Given the description of an element on the screen output the (x, y) to click on. 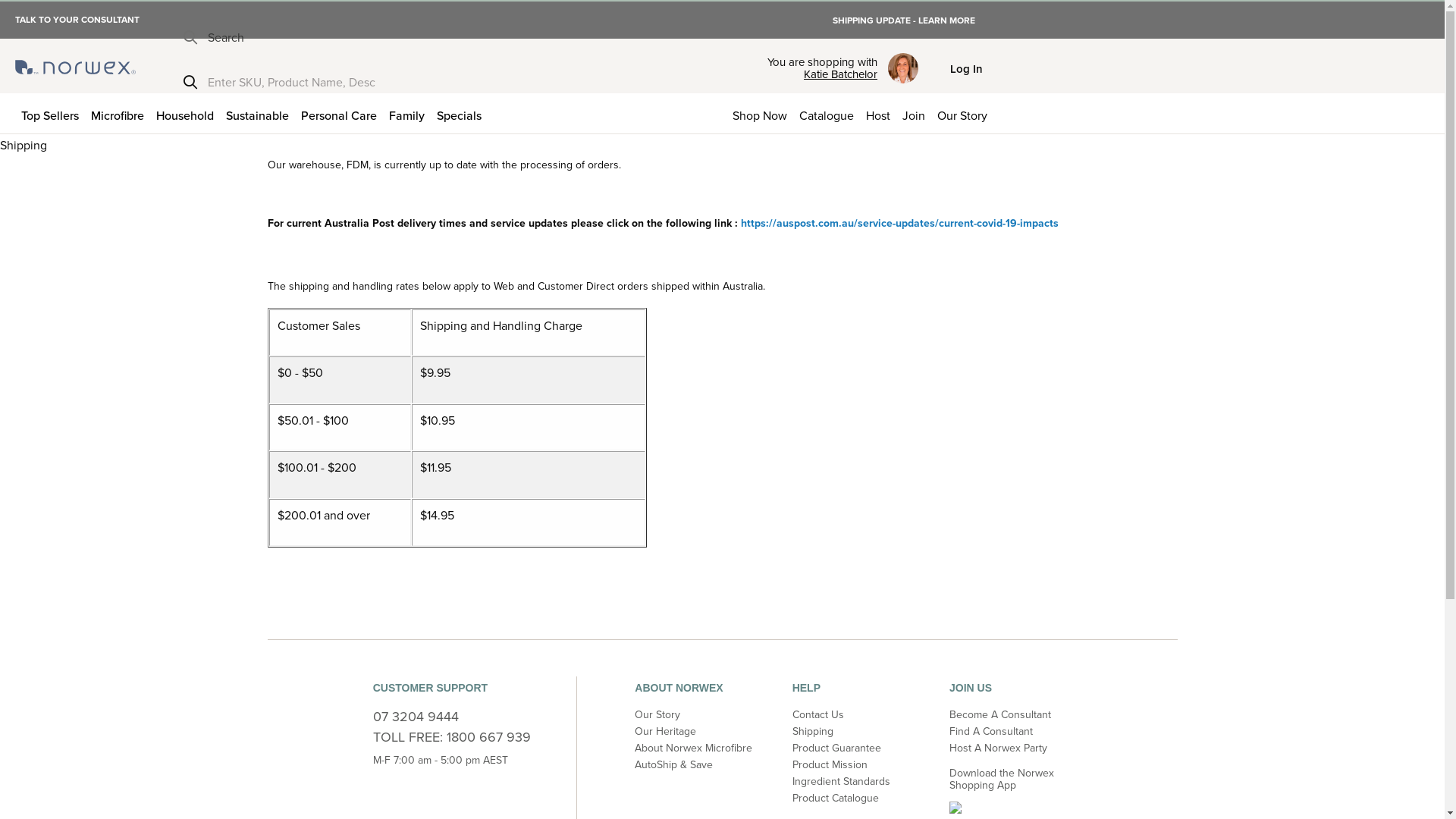
Catalogue Element type: text (826, 113)
Shop Now Element type: text (759, 113)
Find A Consultant Element type: text (990, 731)
Contact Us Element type: text (818, 714)
SHIPPING UPDATE - LEARN MORE Element type: text (903, 20)
Top Sellers Element type: text (49, 113)
Personal Care Element type: text (338, 113)
Join Element type: text (913, 113)
Product Catalogue Element type: text (835, 798)
Become A Consultant Element type: text (1000, 714)
About Norwex Microfibre Element type: text (693, 748)
Specials Element type: text (458, 113)
Our Story Element type: text (657, 714)
Microfibre Element type: text (117, 113)
Household Element type: text (184, 113)
Our Heritage Element type: text (665, 731)
Search Element type: text (213, 37)
Family Element type: text (406, 113)
Product Mission Element type: text (829, 764)
Sustainable Element type: text (256, 113)
Host Element type: text (877, 113)
Shipping Element type: text (812, 731)
Product Guarantee Element type: text (836, 748)
Ingredient Standards Element type: text (841, 781)
Host A Norwex Party Element type: text (998, 748)
Our Story Element type: text (962, 113)
Katie Batchelor Element type: text (822, 74)
AutoShip & Save Element type: text (673, 764)
